Given the description of an element on the screen output the (x, y) to click on. 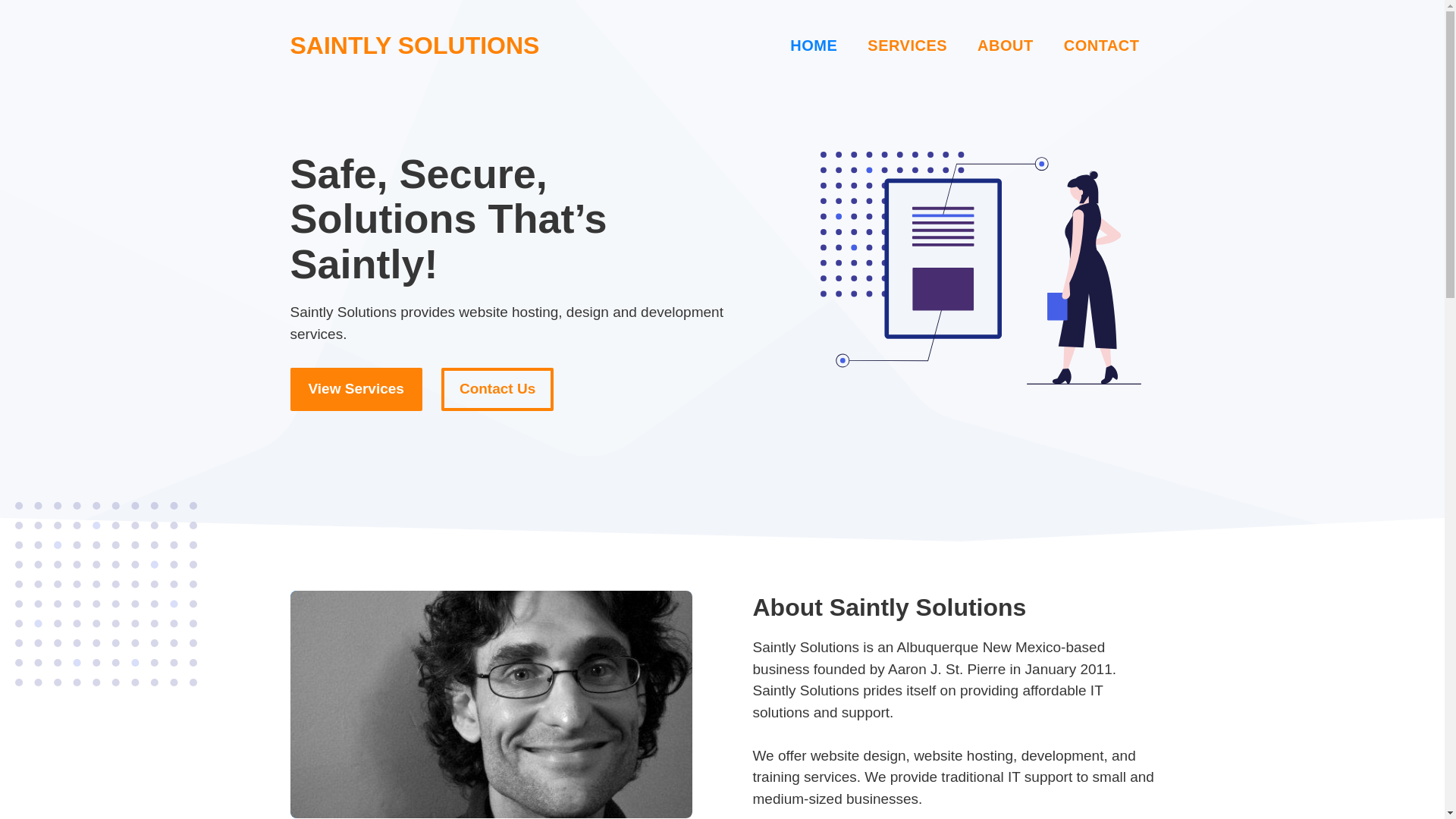
HOME (812, 44)
View Services (355, 389)
SAINTLY SOLUTIONS (413, 44)
SERVICES (906, 44)
Contact Us (497, 389)
ABOUT (1005, 44)
CONTACT (1101, 44)
